Given the description of an element on the screen output the (x, y) to click on. 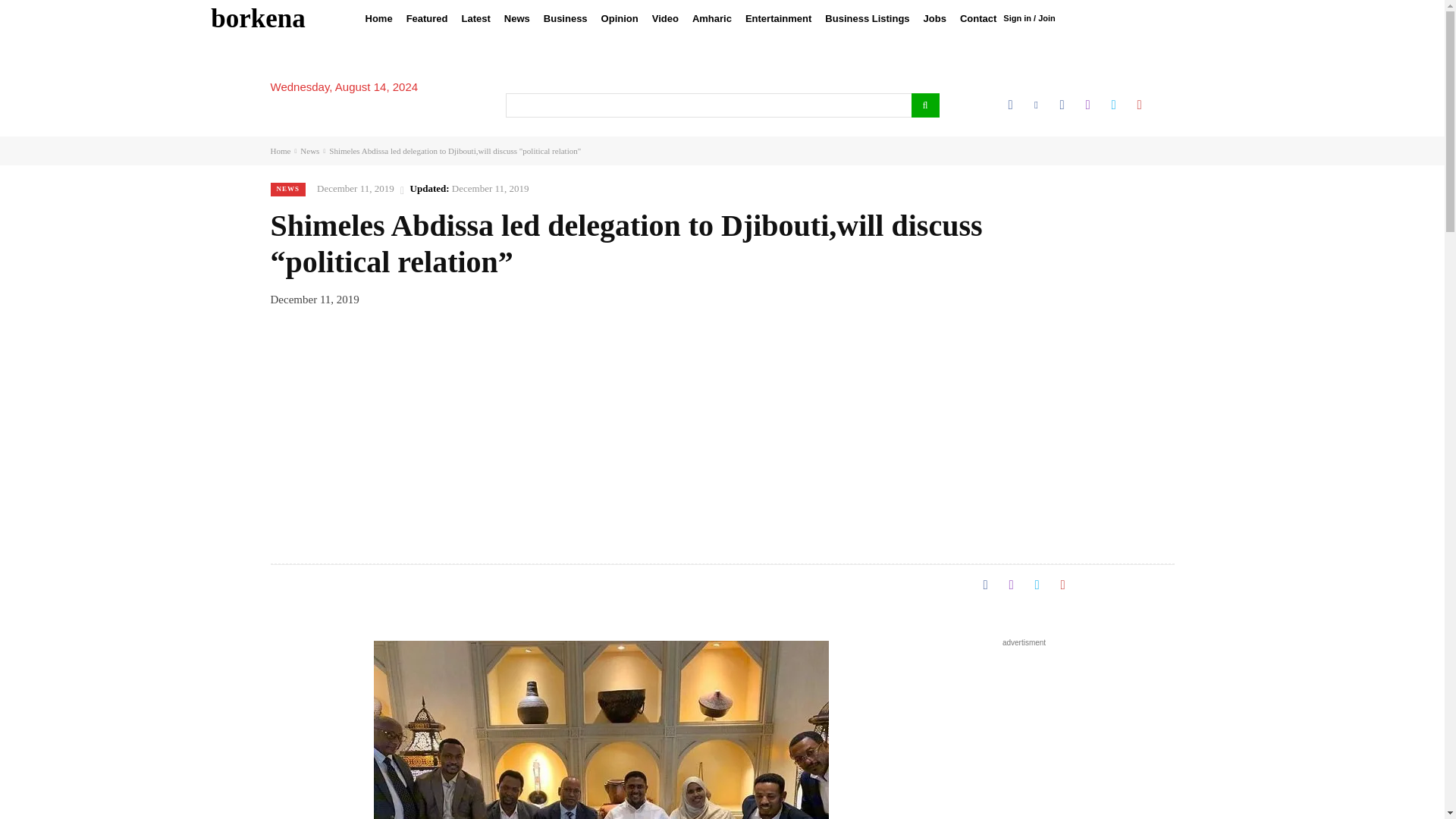
Home (378, 18)
News (517, 18)
Amharic (711, 18)
Business (565, 18)
Business Listings (866, 18)
Latest (475, 18)
Ethiopian News and Opinion  (257, 18)
Jobs (935, 18)
Contact (978, 18)
Entertainment (778, 18)
